Given the description of an element on the screen output the (x, y) to click on. 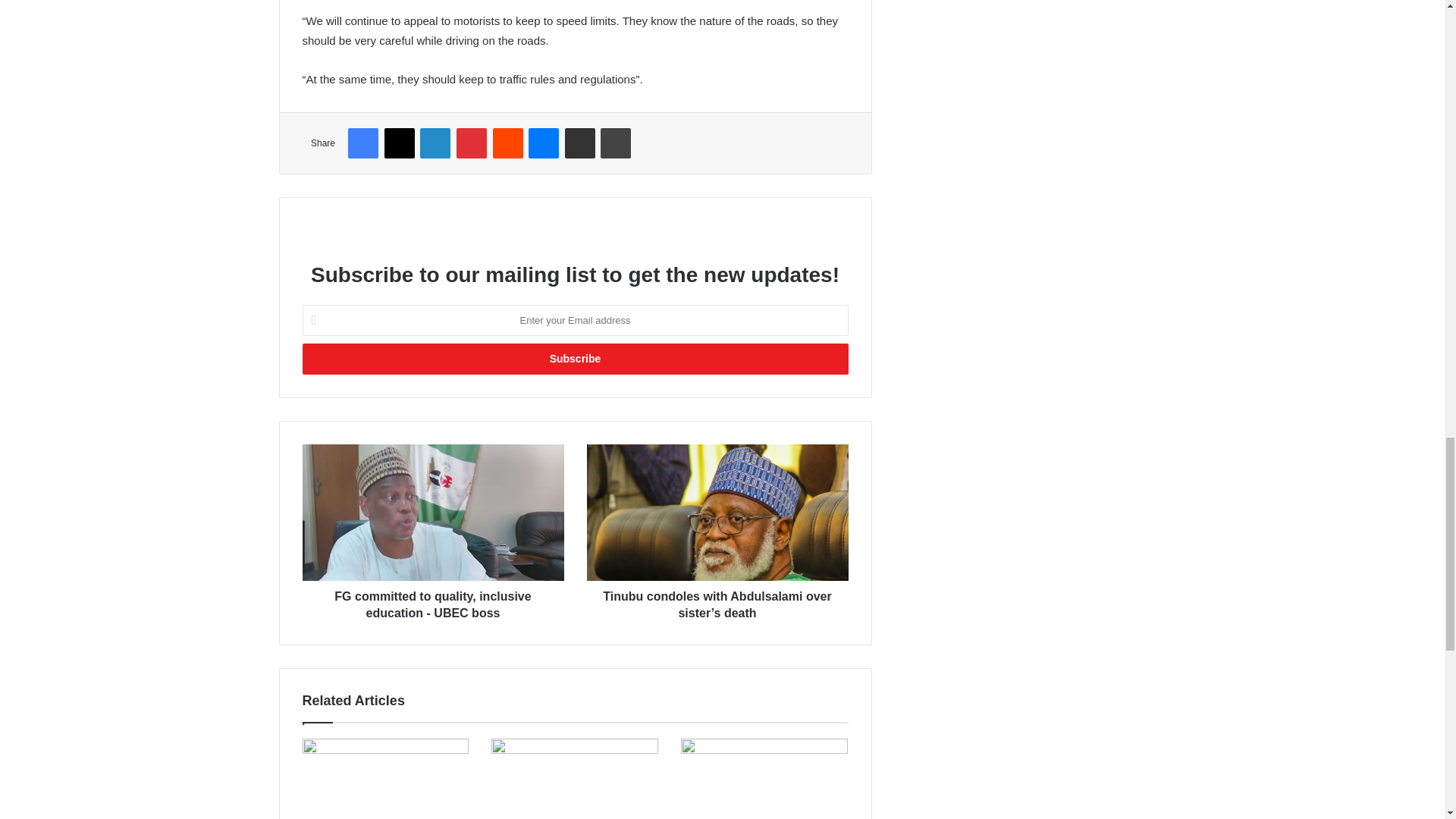
Subscribe (574, 358)
